Given the description of an element on the screen output the (x, y) to click on. 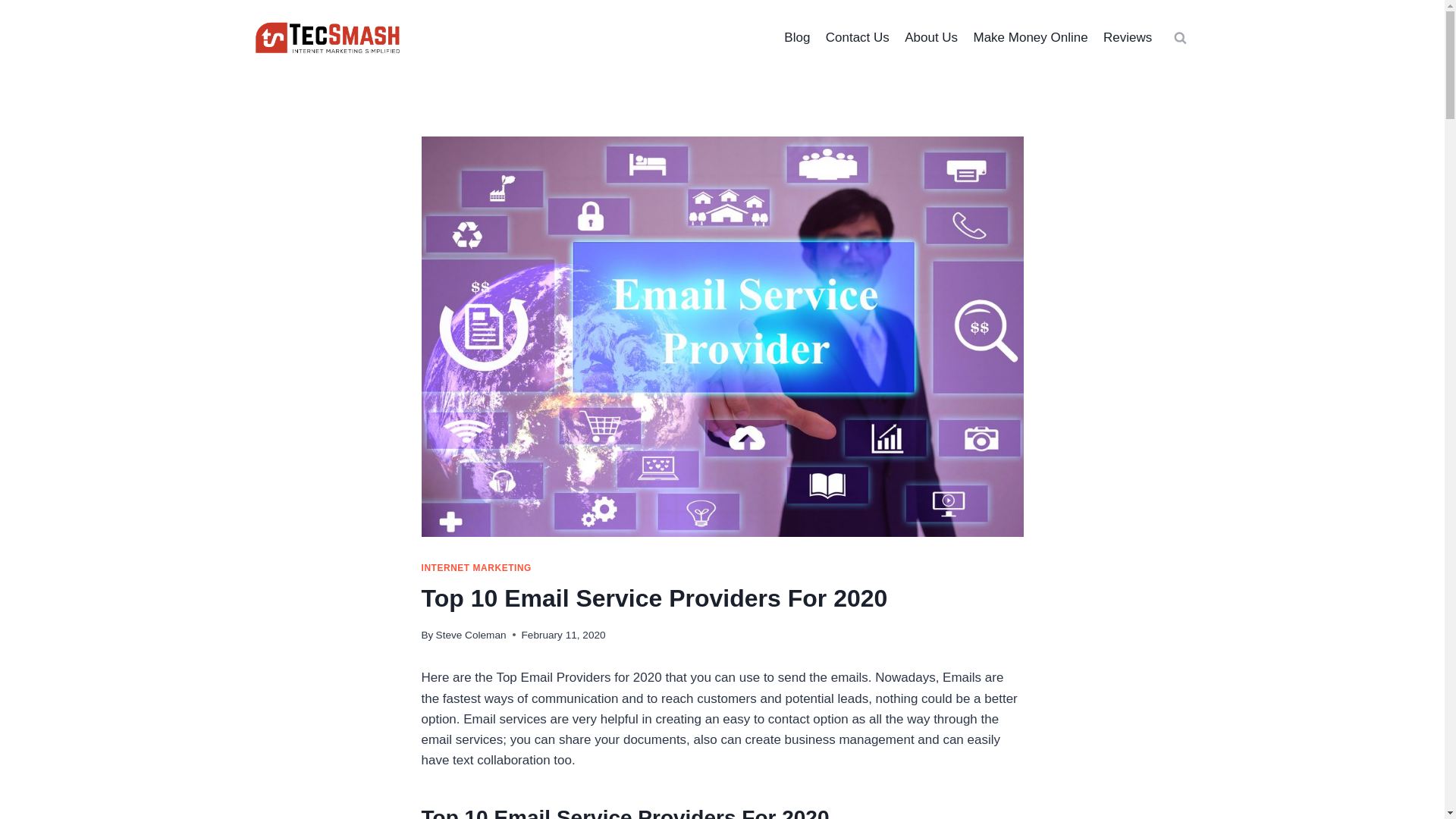
Steve Coleman (470, 634)
Reviews (1128, 37)
About Us (930, 37)
Make Money Online (1030, 37)
Contact Us (857, 37)
Blog (796, 37)
INTERNET MARKETING (476, 567)
